Given the description of an element on the screen output the (x, y) to click on. 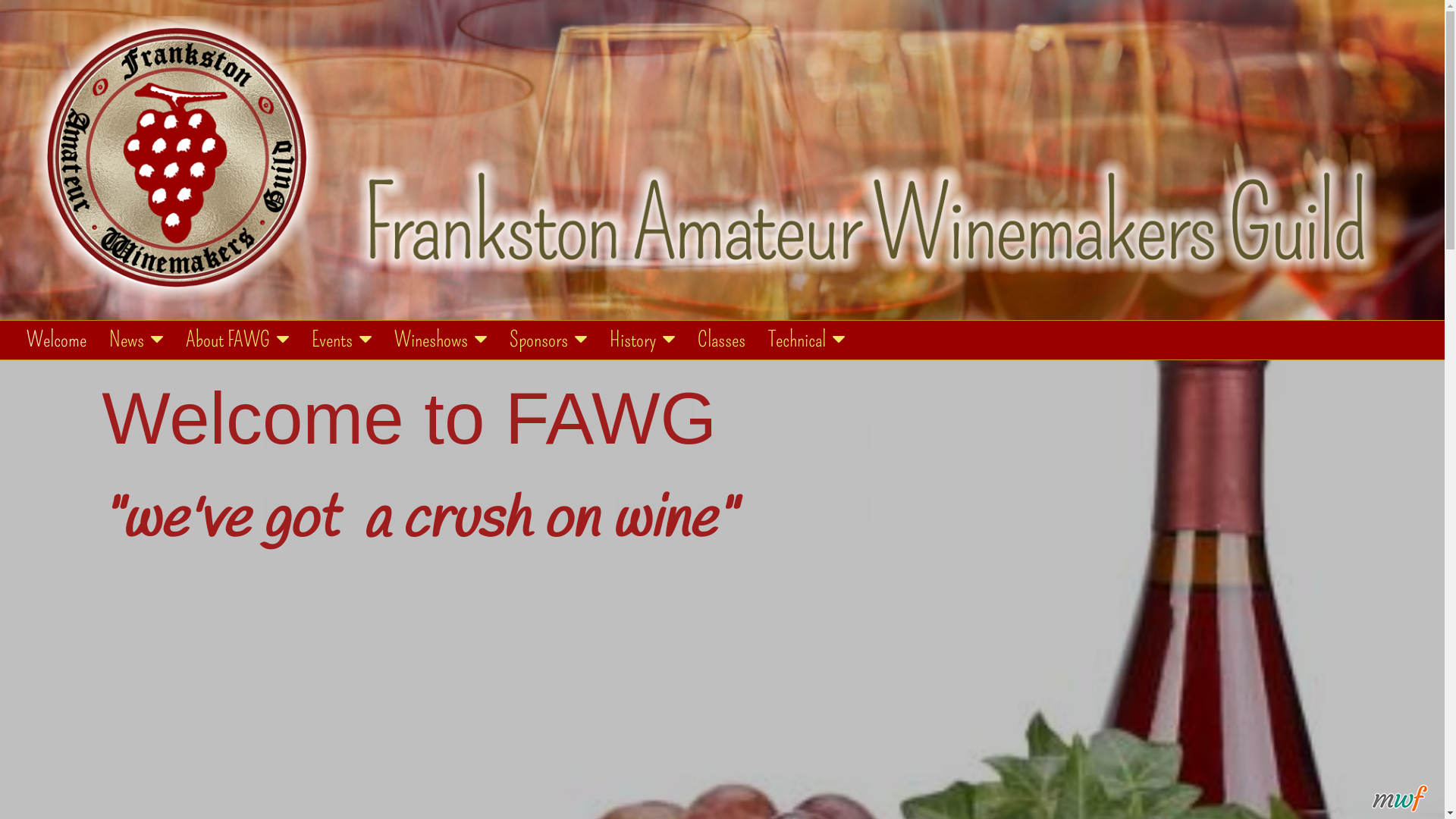
Wineshows Element type: text (440, 338)
Welcome Element type: text (56, 338)
About FAWG Element type: text (236, 338)
Sponsors Element type: text (547, 338)
History Element type: text (641, 338)
Events Element type: text (341, 338)
Classes Element type: text (721, 338)
News Element type: text (136, 338)
Technical Element type: text (806, 338)
